Given the description of an element on the screen output the (x, y) to click on. 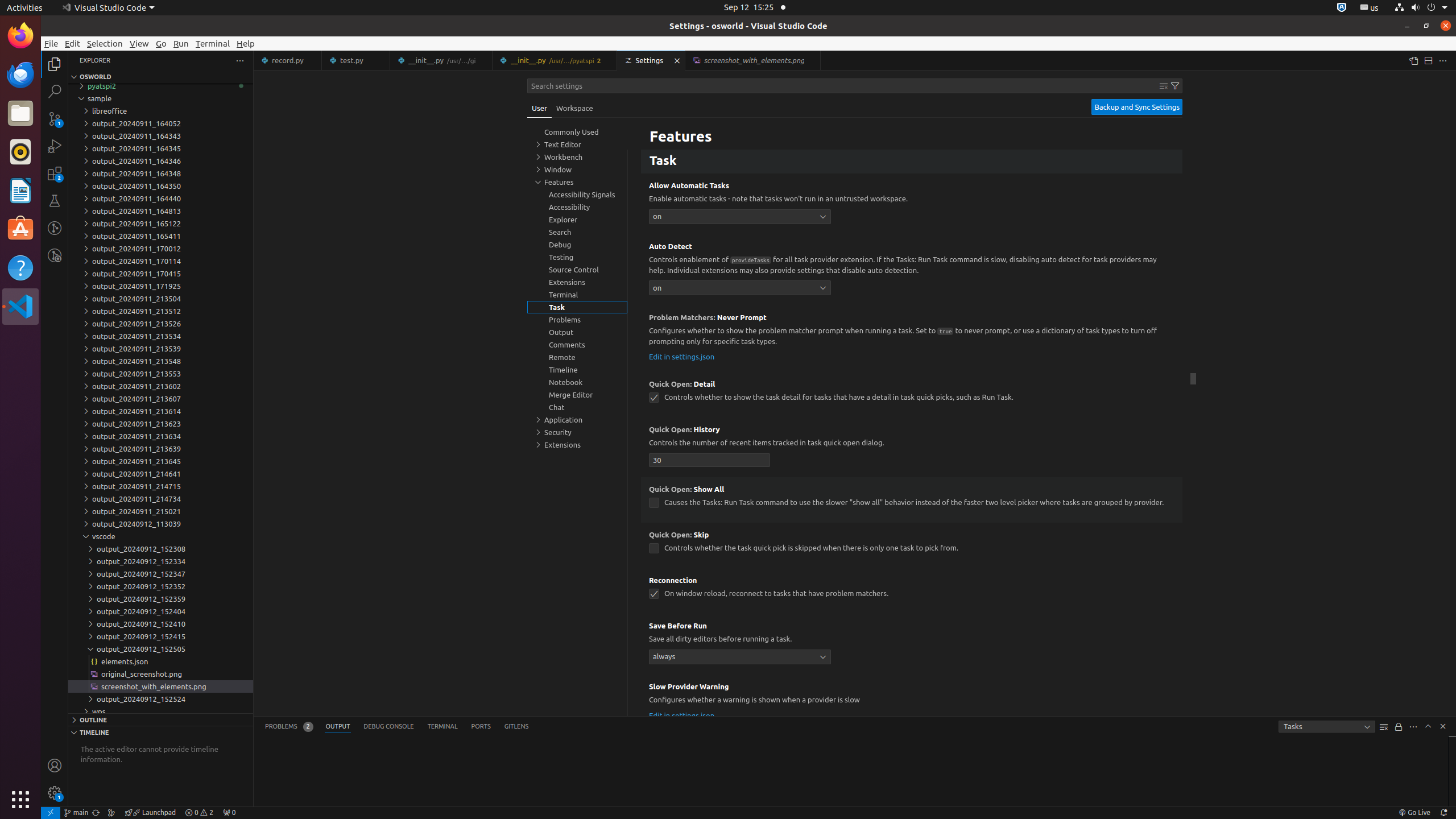
Task Element type: tree-item (911, 161)
Explorer (Ctrl+Shift+E) Element type: page-tab (54, 63)
Accessibility, group Element type: tree-item (577, 206)
 Auto Detect. Controls enablement of provideTasks for all task provider extension. If the Tasks: Run Task command is slow, disabling auto detect for task providers may help. Individual extensions may also provide settings that disable auto detection.  Element type: tree-item (911, 269)
Merge Editor, group Element type: tree-item (577, 394)
